Given the description of an element on the screen output the (x, y) to click on. 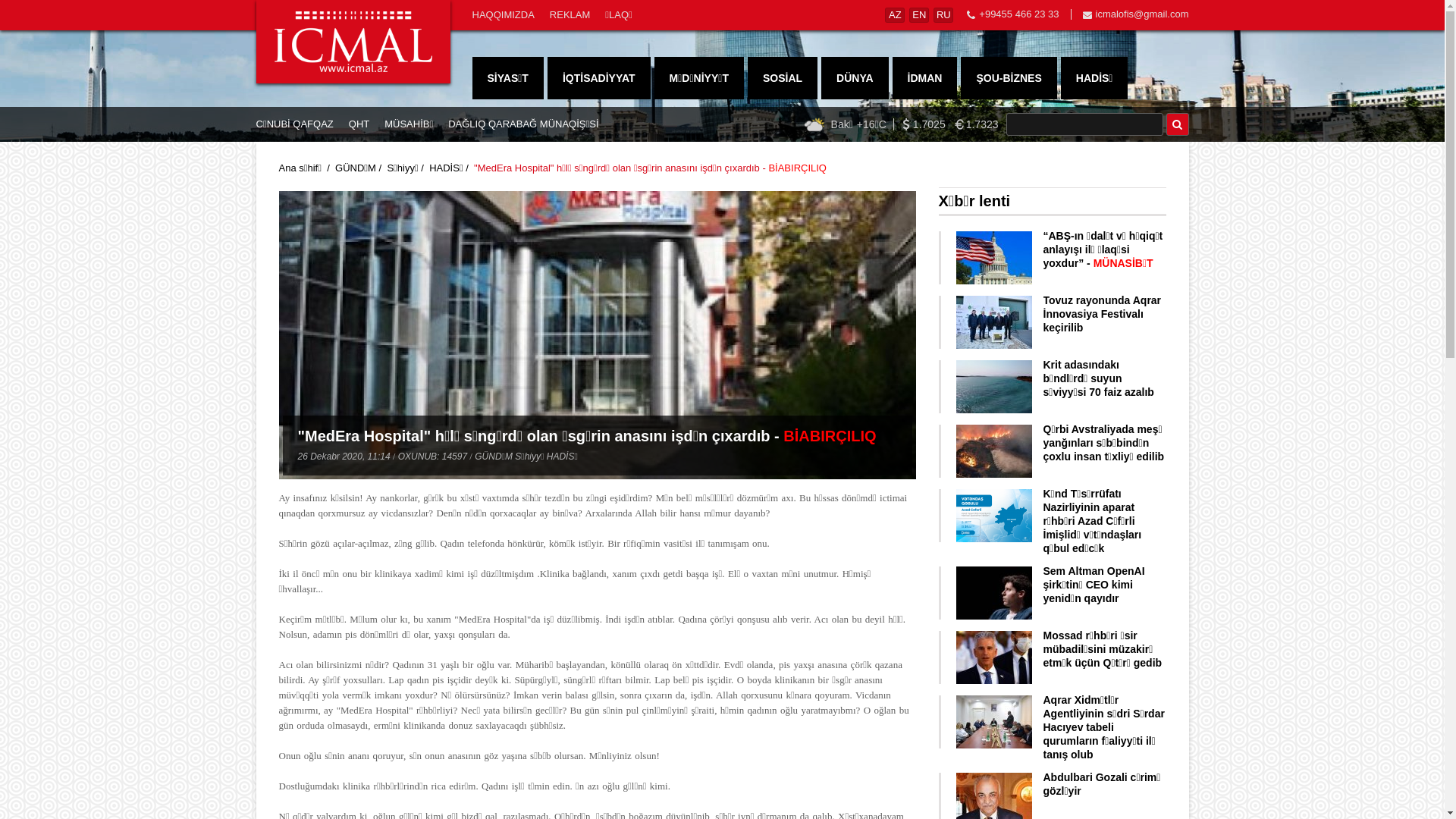
REKLAM Element type: text (569, 14)
AZ Element type: text (894, 14)
icmalofis@gmail.com Element type: text (1141, 13)
+99455 466 23 33 Element type: text (1018, 13)
HAQQIMIZDA Element type: text (502, 14)
EN Element type: text (918, 14)
RU Element type: text (943, 14)
QHT Element type: text (358, 123)
